Given the description of an element on the screen output the (x, y) to click on. 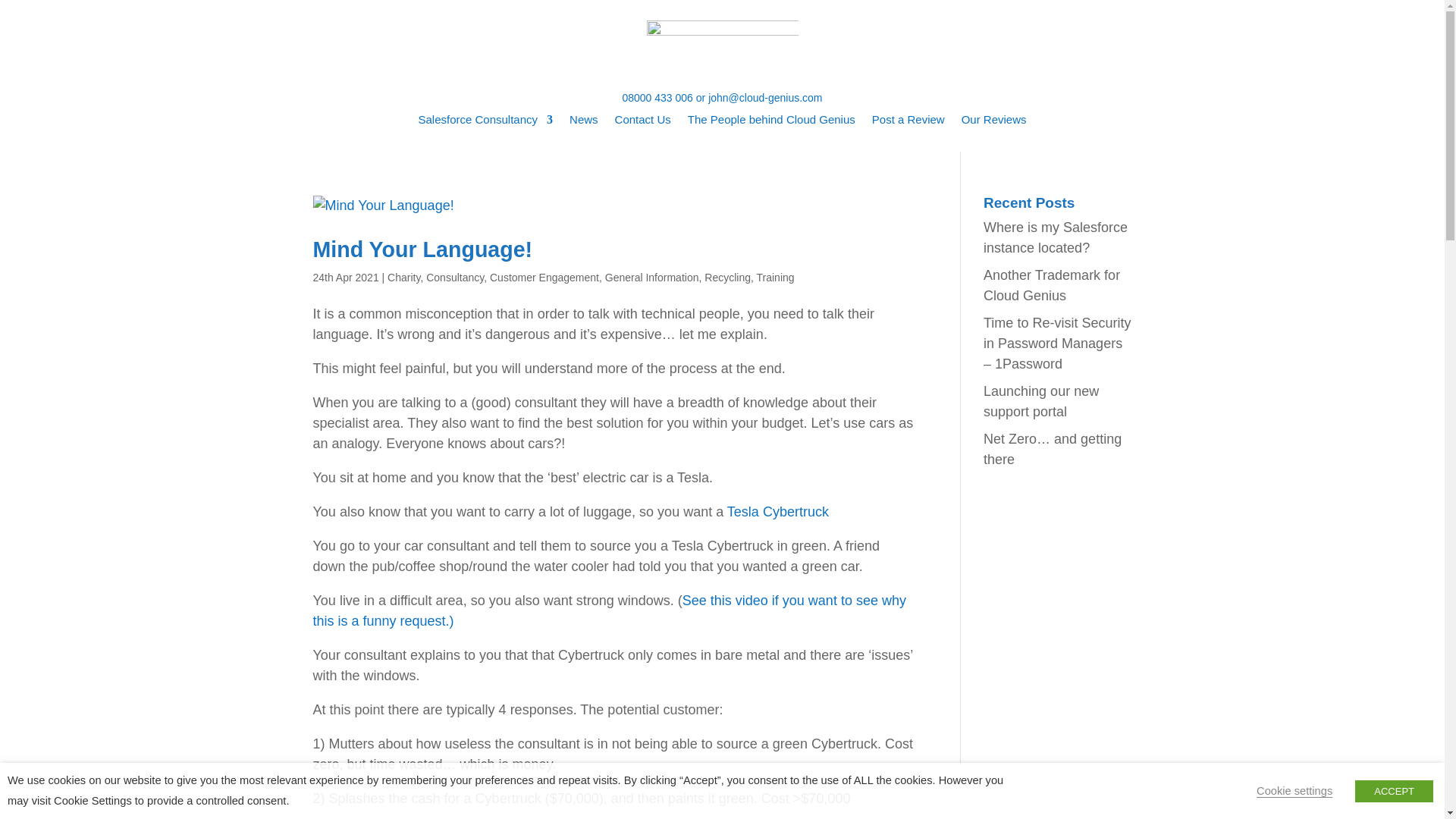
Tesla Cybertruck (777, 511)
Training (775, 277)
The People behind Cloud Genius (771, 122)
08000 433 006 (657, 97)
Post a Review (908, 122)
Customer Engagement (543, 277)
Consultancy (454, 277)
Mind Your Language! (422, 249)
General Information (651, 277)
Salesforce Consultancy (485, 122)
